Given the description of an element on the screen output the (x, y) to click on. 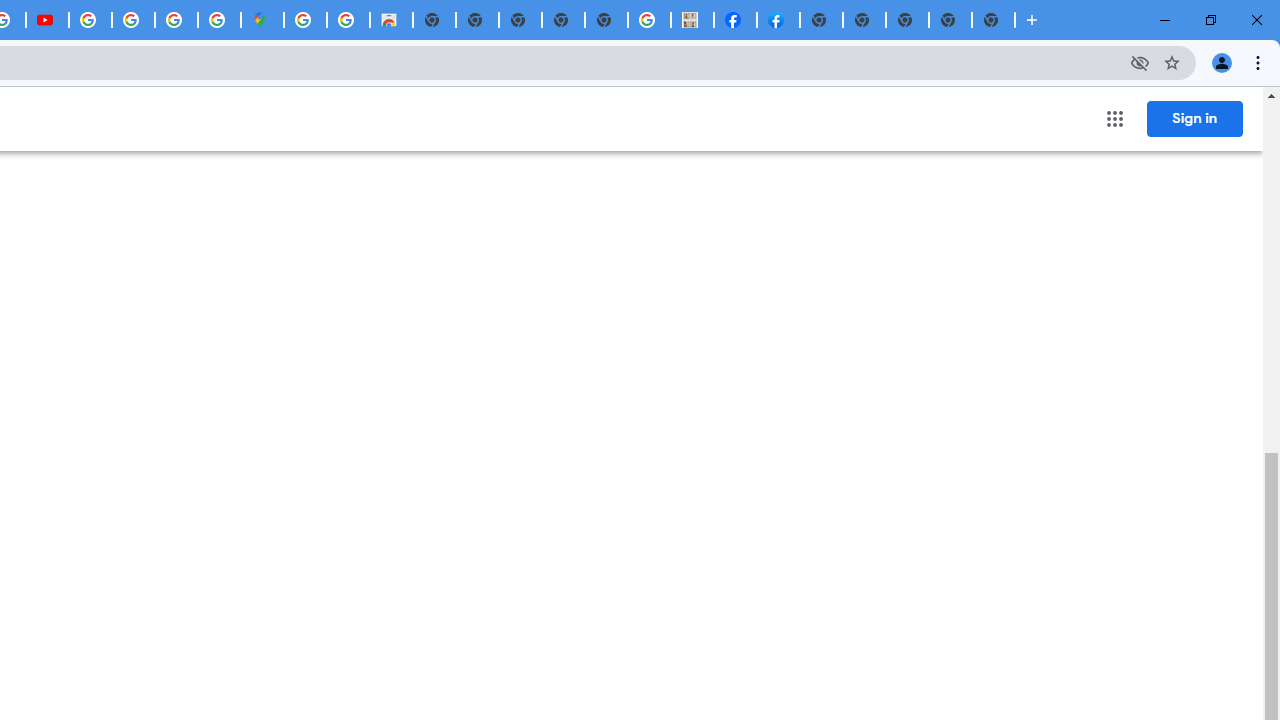
MILEY CYRUS. (692, 20)
Google Maps (262, 20)
Subscriptions - YouTube (47, 20)
New Tab (907, 20)
New Tab (993, 20)
How Chrome protects your passwords - Google Chrome Help (90, 20)
